Given the description of an element on the screen output the (x, y) to click on. 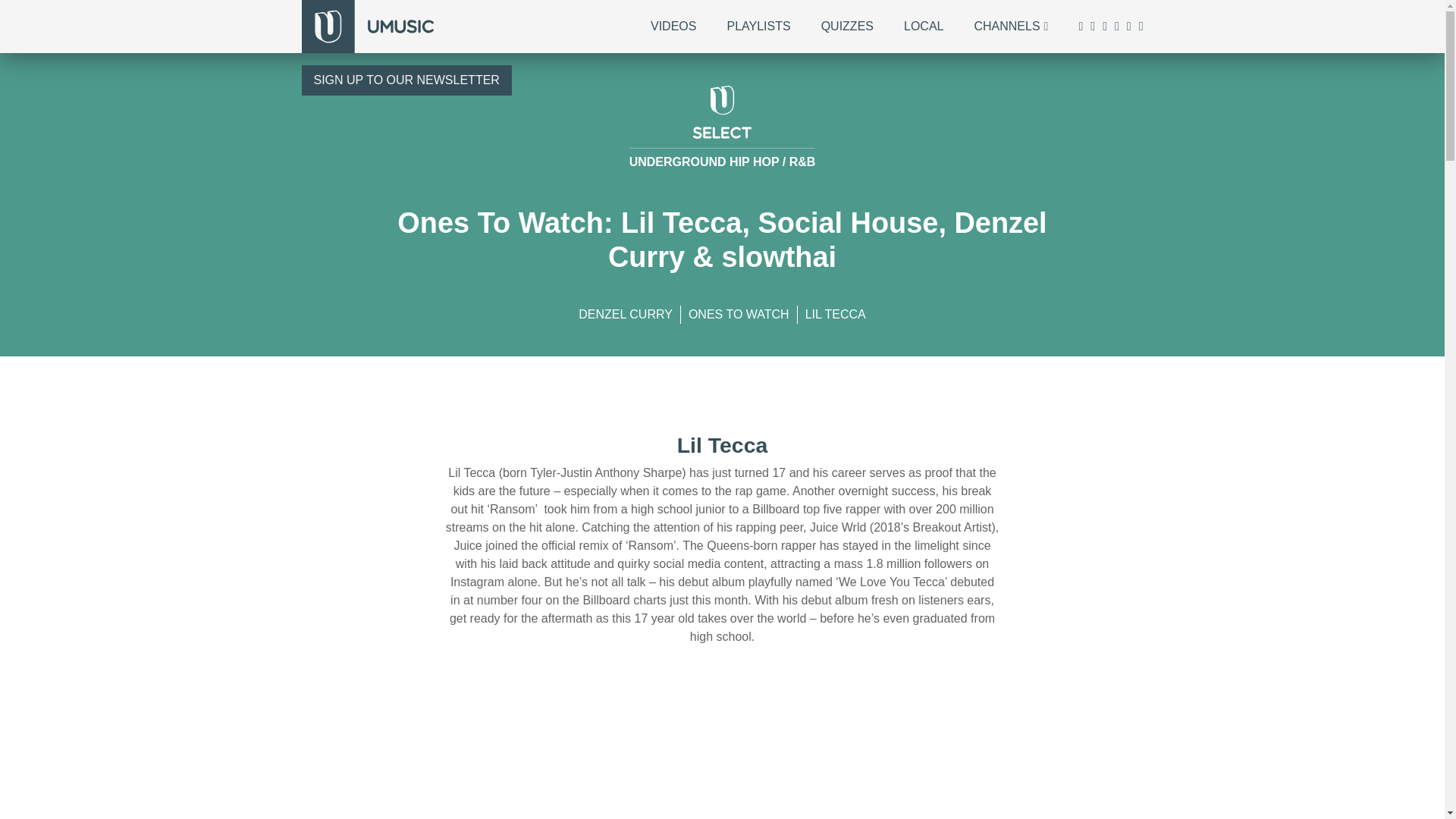
QUIZZES (847, 25)
VIDEOS (672, 25)
LOCAL (923, 25)
CHANNELS (1006, 25)
PLAYLISTS (758, 25)
